Given the description of an element on the screen output the (x, y) to click on. 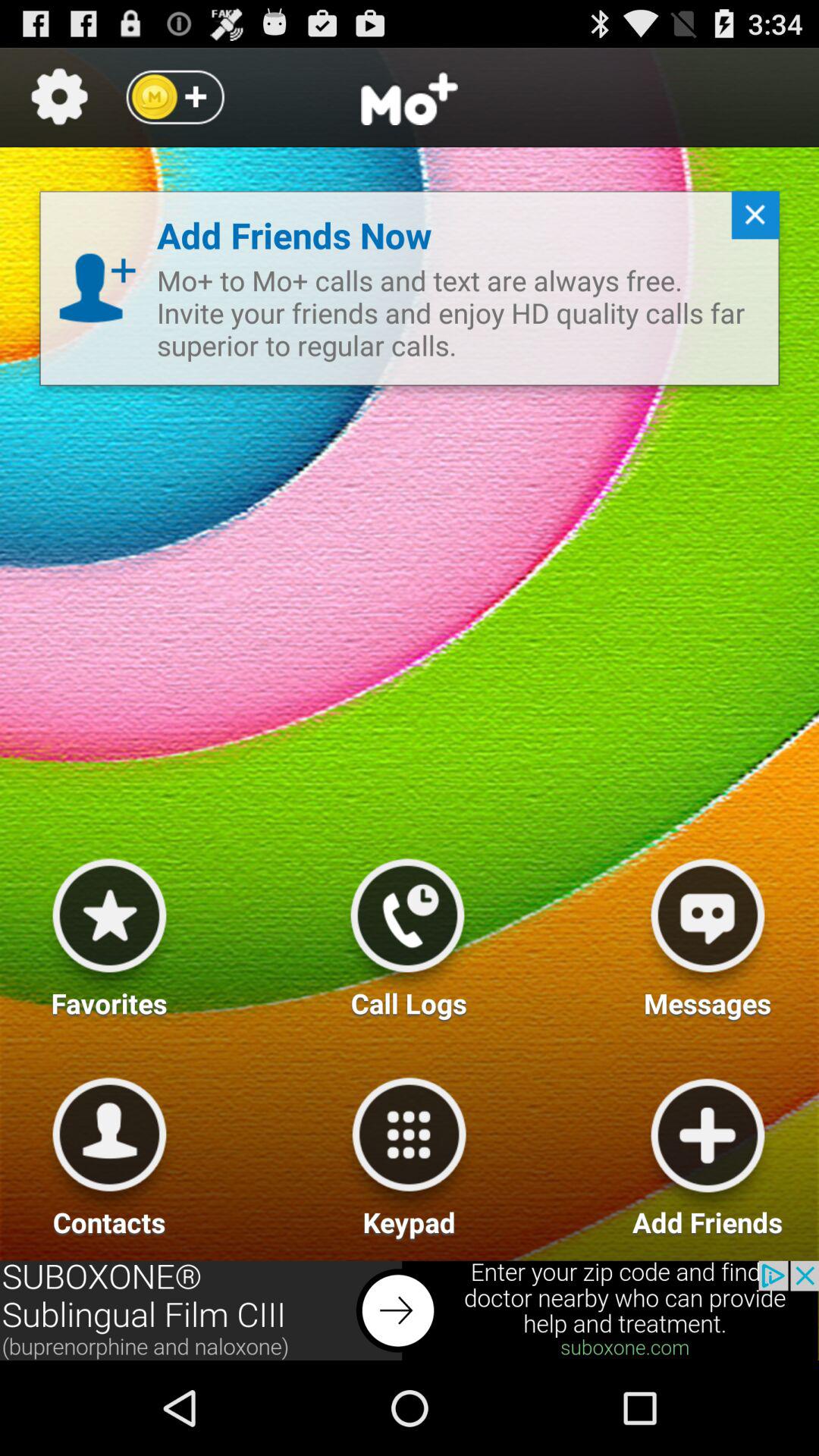
advertisement (409, 1310)
